Given the description of an element on the screen output the (x, y) to click on. 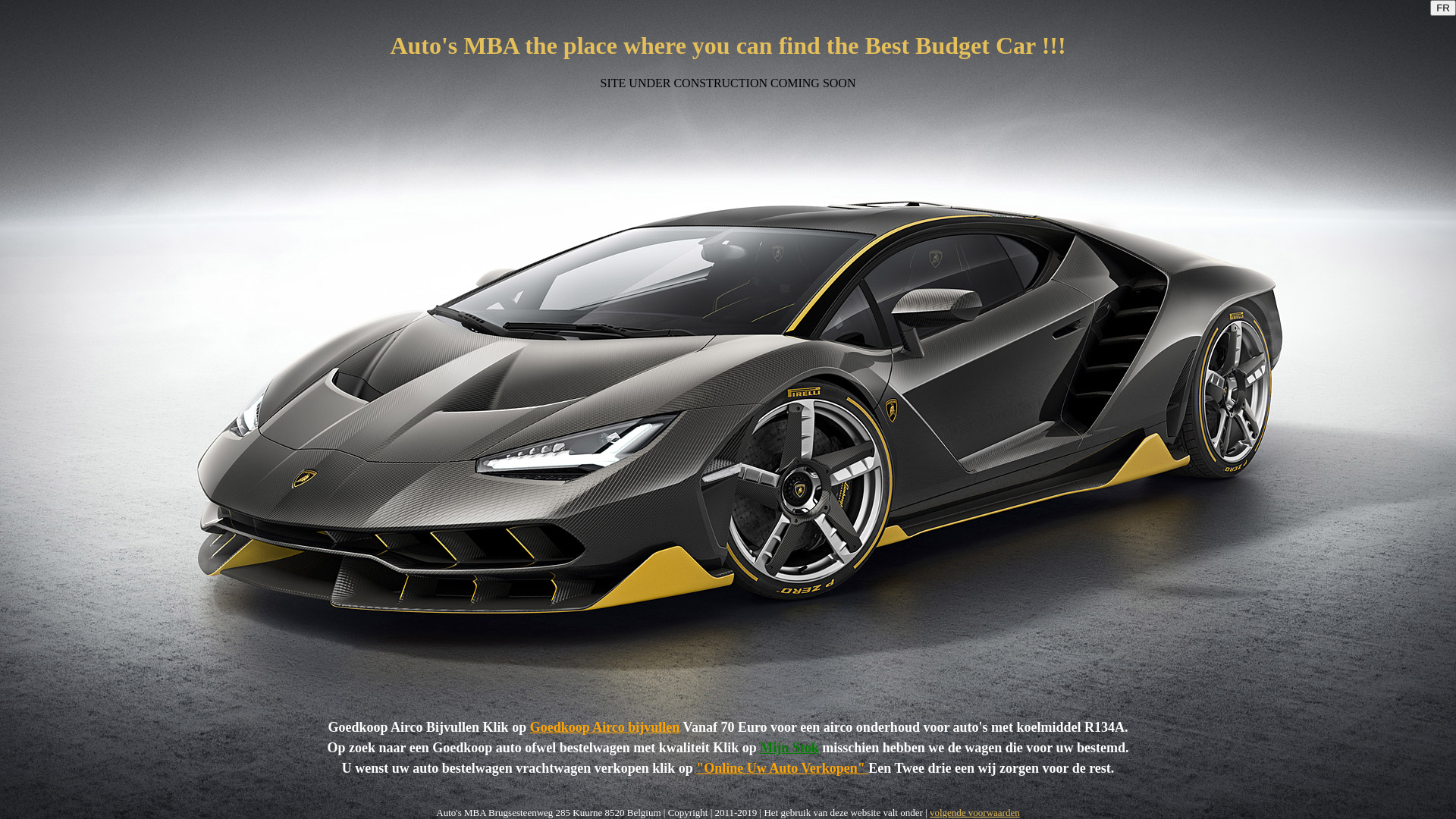
"Online Uw Auto Verkopen" Element type: text (782, 767)
Goedkoop Airco bijvullen Element type: text (605, 726)
volgende voorwaarden Element type: text (974, 812)
Mijn Stok Element type: text (789, 747)
